Given the description of an element on the screen output the (x, y) to click on. 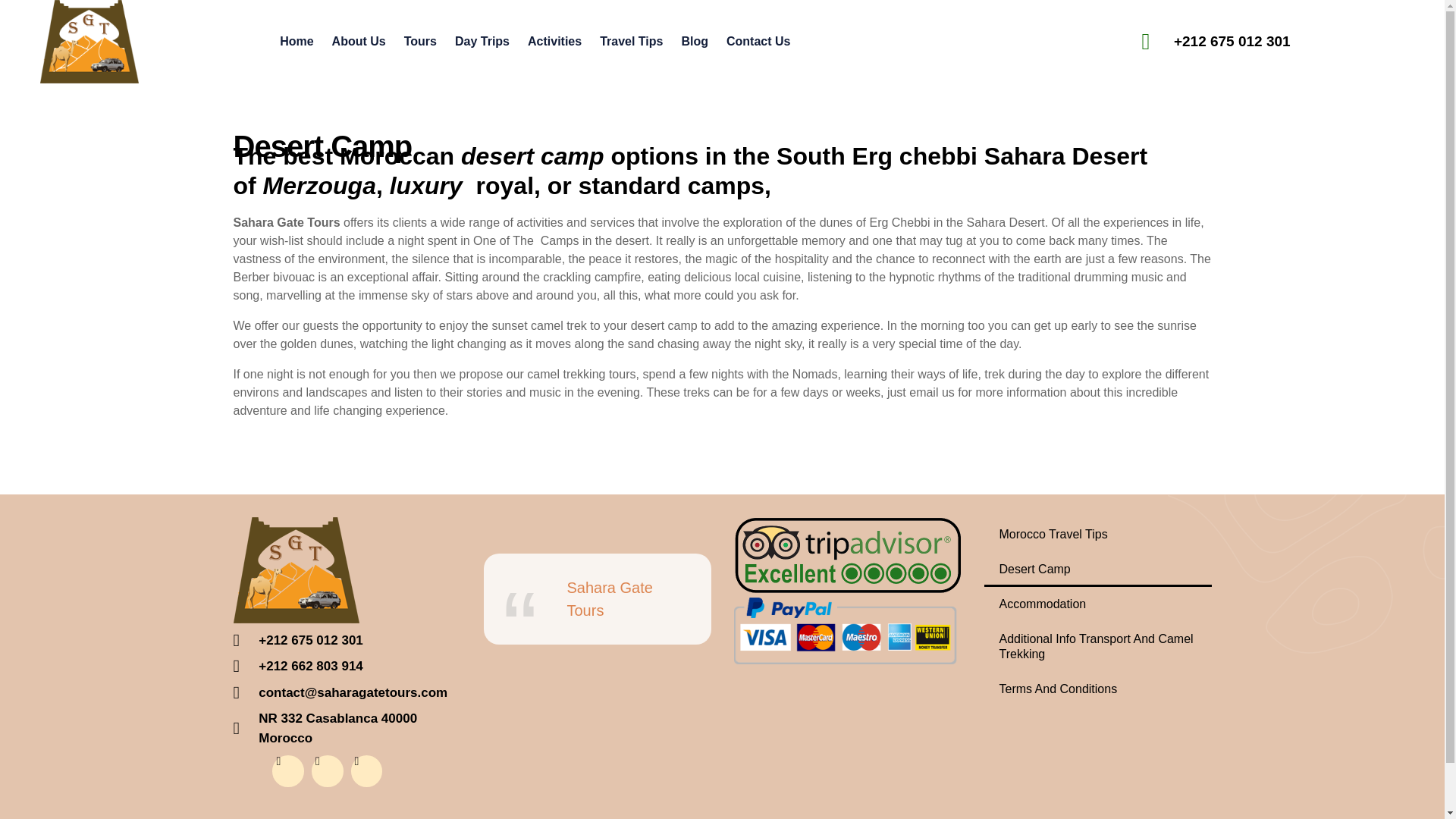
Home (295, 41)
About Us (358, 41)
Tours (419, 41)
Day Trips (481, 41)
